Given the description of an element on the screen output the (x, y) to click on. 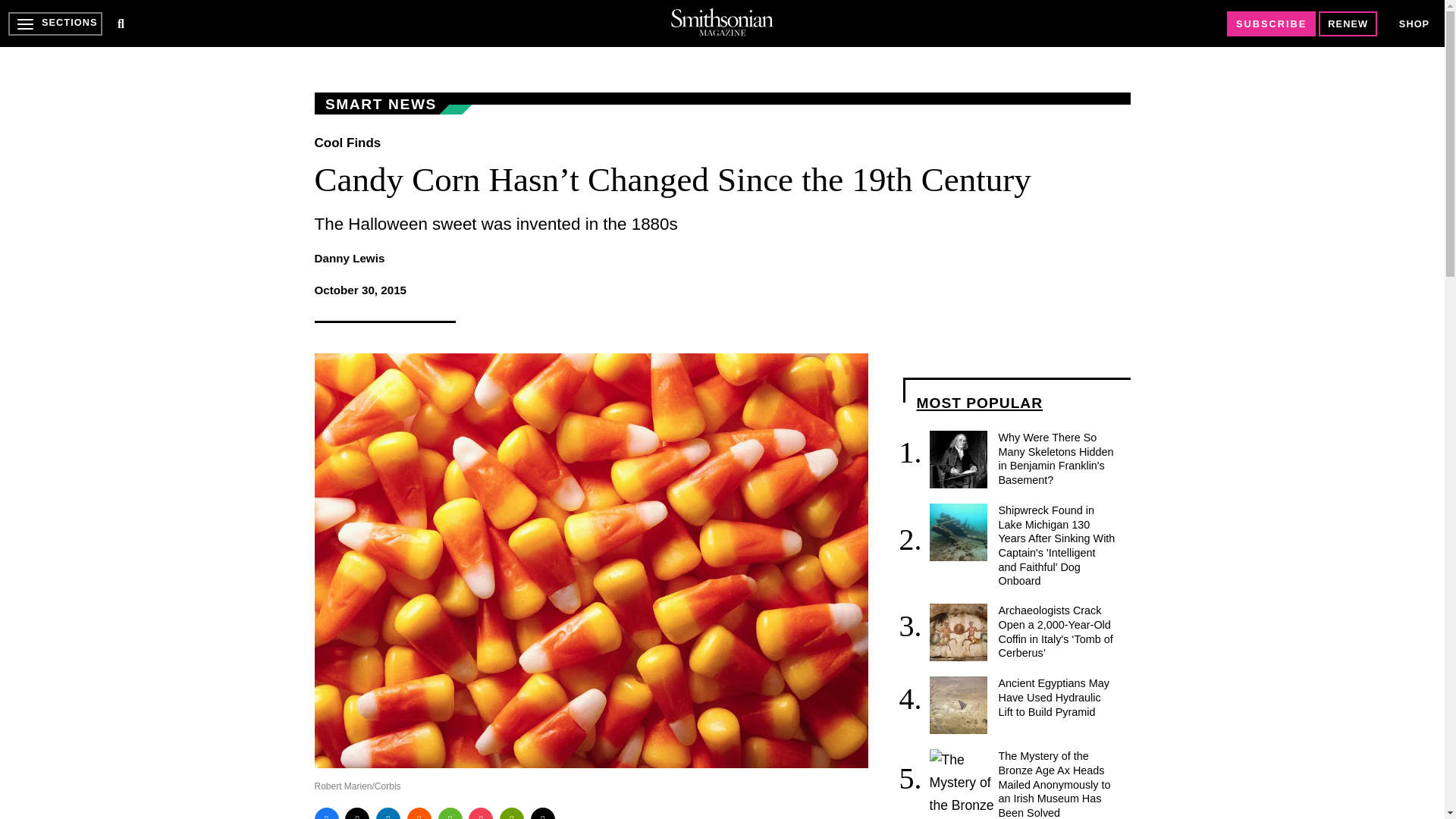
SHOP (1414, 23)
WhatsApp (450, 813)
LinkedIn (387, 813)
RENEW (1348, 23)
RENEW (1347, 23)
Email (542, 813)
SECTIONS (55, 23)
Reddit (418, 813)
Pocket (480, 813)
SHOP (1413, 23)
Facebook (325, 813)
Print (511, 813)
Twitter (357, 813)
SUBSCRIBE (1271, 23)
SUBSCRIBE (1271, 23)
